Given the description of an element on the screen output the (x, y) to click on. 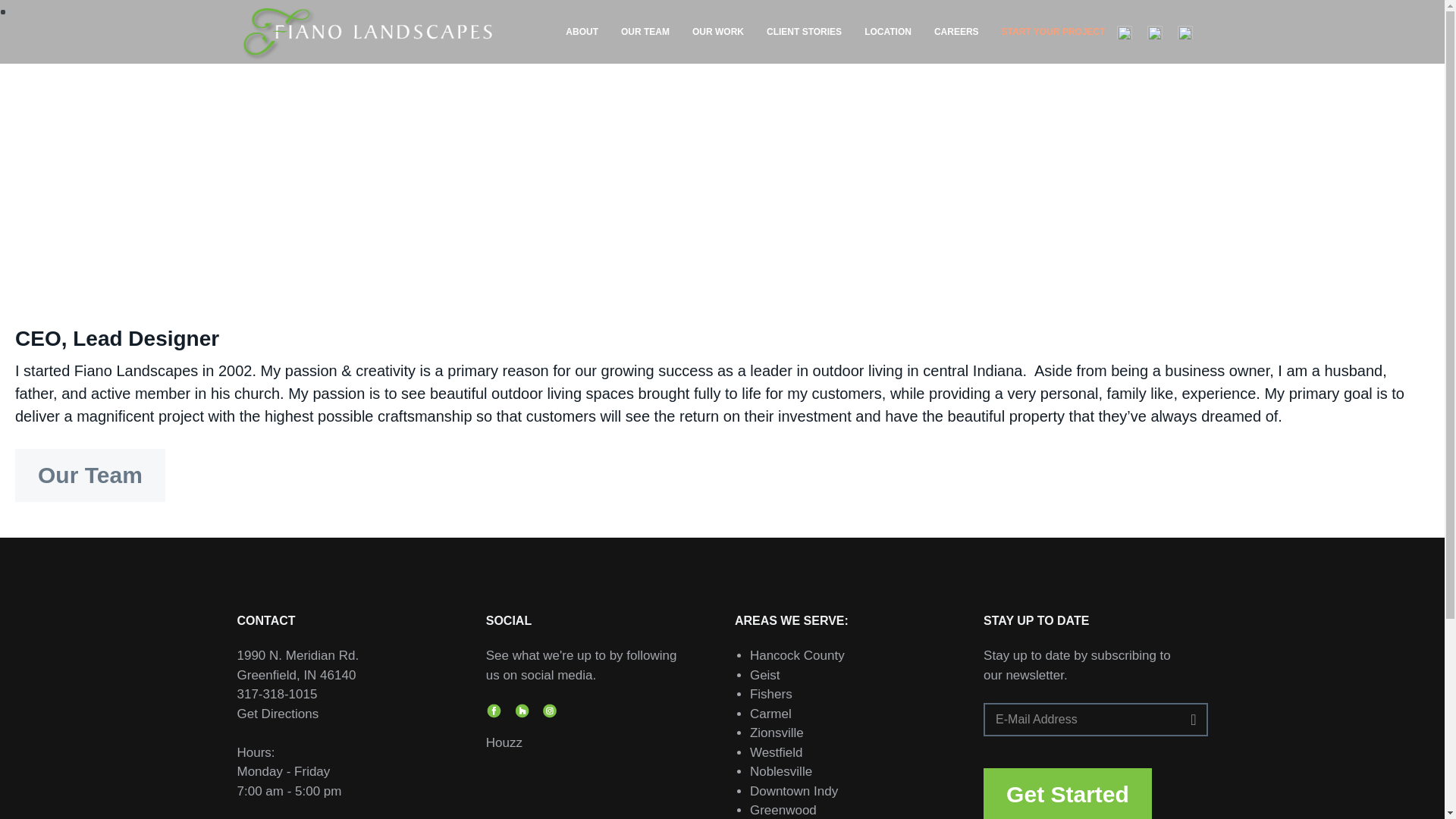
CAREERS (956, 31)
OUR TEAM (645, 31)
317-318-1015 (276, 694)
FIANO LANDSCAPES (302, 66)
START YOUR PROJECT (1053, 31)
Our Team (89, 475)
Get Started (1067, 798)
Get Started (1067, 793)
Go (1188, 715)
Go (1188, 715)
Houzz (504, 742)
CLIENT STORIES (804, 31)
Our Team (89, 476)
OUR WORK (718, 31)
